Given the description of an element on the screen output the (x, y) to click on. 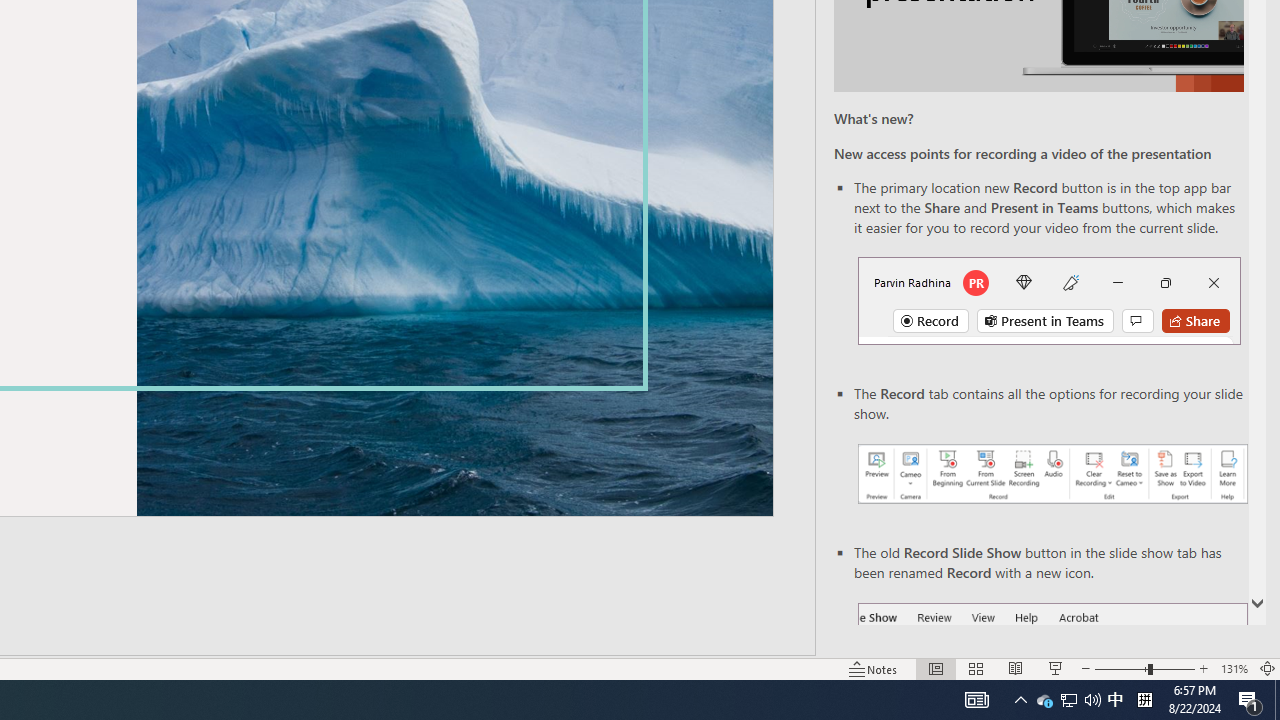
Zoom 131% (1234, 668)
Record button in top bar (1049, 300)
Record your presentations screenshot one (1052, 473)
